Given the description of an element on the screen output the (x, y) to click on. 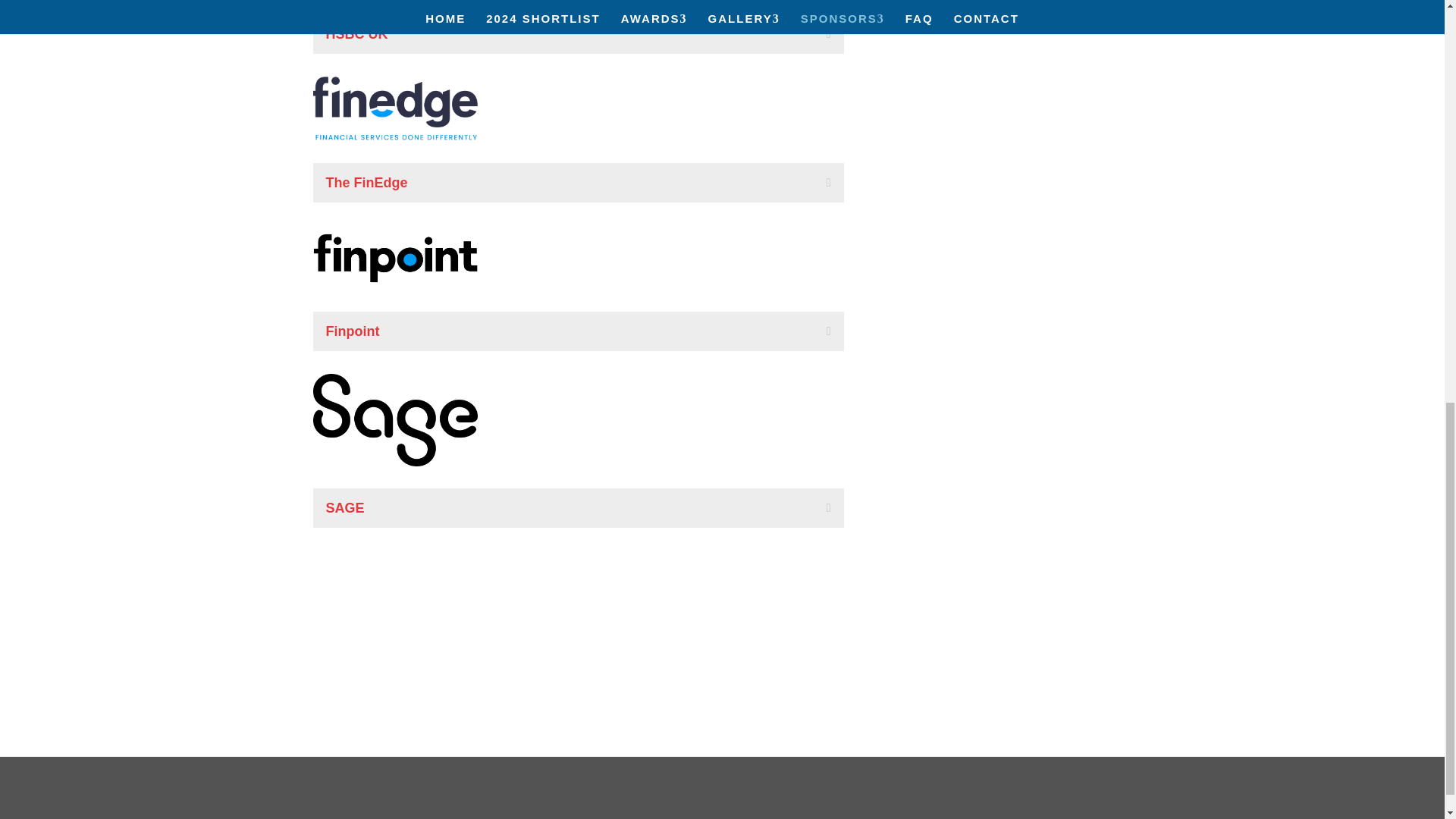
finpoint logo New (395, 257)
Finedge logo-tagline (395, 108)
